Given the description of an element on the screen output the (x, y) to click on. 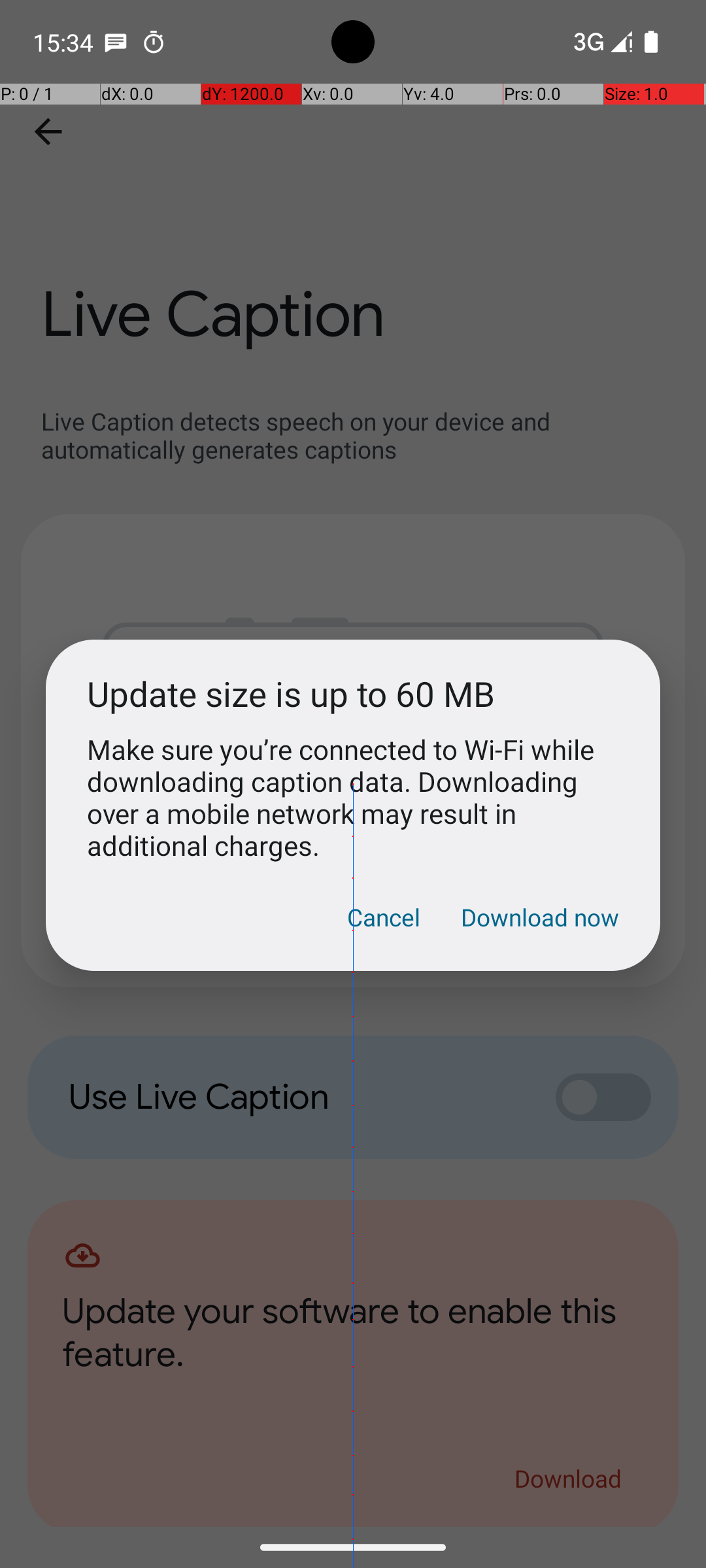
Update size is up to 60 MB Element type: android.widget.TextView (352, 693)
Make sure you’re connected to Wi-Fi while downloading caption data. Downloading over a mobile network may result in additional charges. Element type: android.widget.TextView (352, 796)
Download now Element type: android.widget.Button (539, 916)
